Given the description of an element on the screen output the (x, y) to click on. 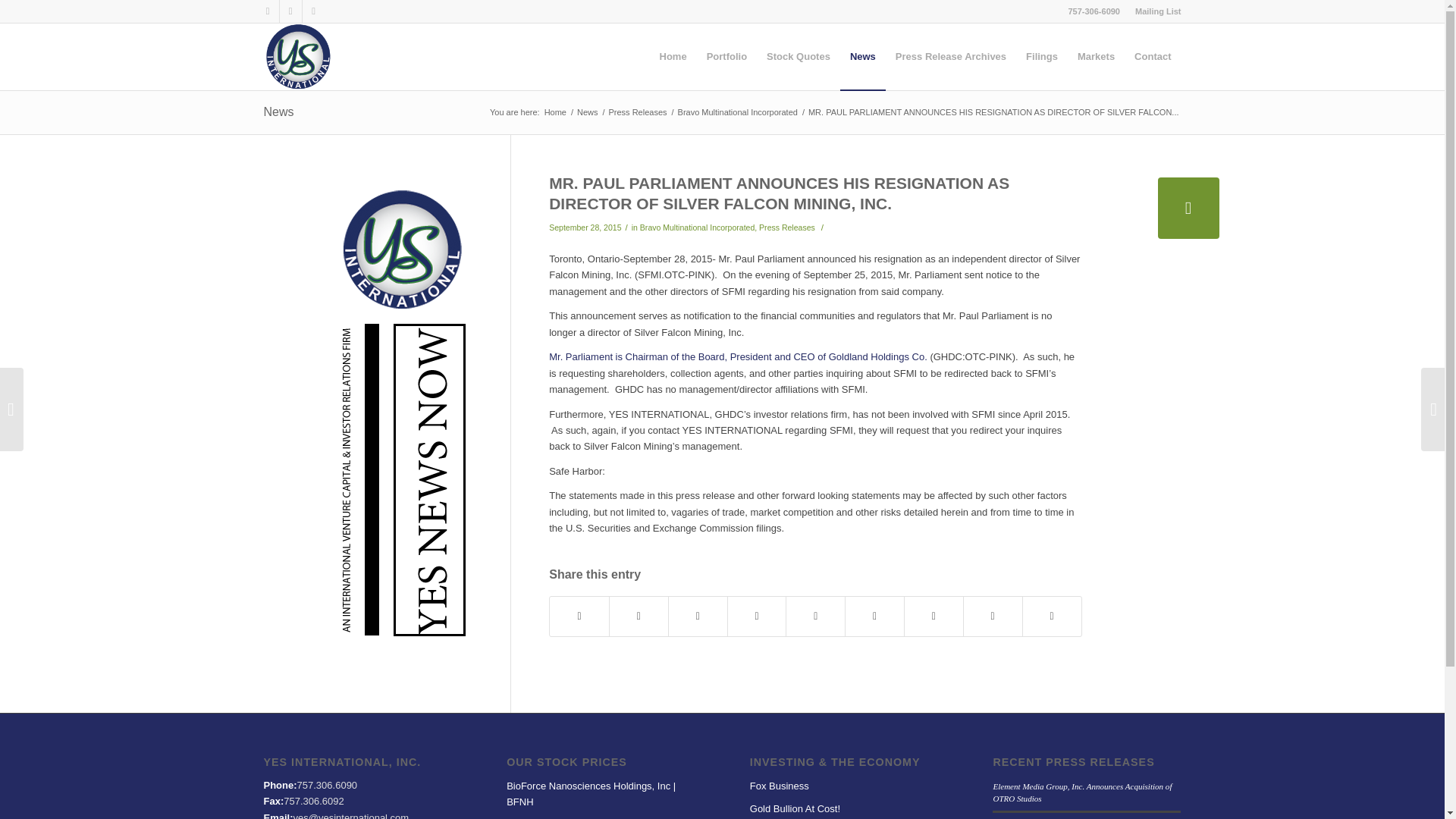
Markets (1095, 56)
Yes International, Inc. (555, 112)
Stock Quotes (798, 56)
Home (673, 56)
Mail (312, 11)
Filings (1041, 56)
Press Release Archives (950, 56)
Twitter (290, 11)
Permanent Link: News (278, 111)
Portfolio (727, 56)
News (862, 56)
Mailing List (1157, 11)
Facebook (267, 11)
